Given the description of an element on the screen output the (x, y) to click on. 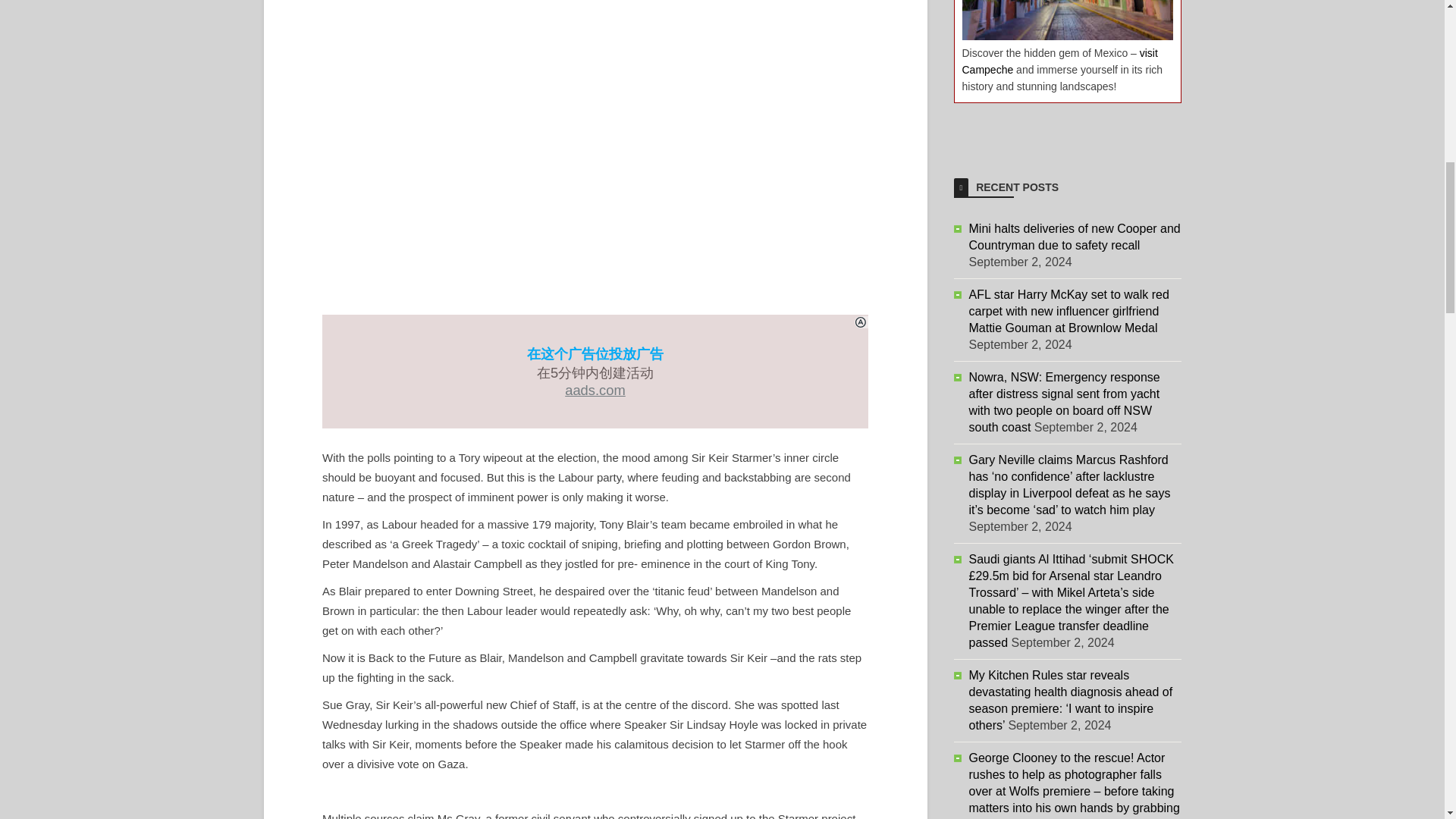
visit Campeche (1058, 61)
